Given the description of an element on the screen output the (x, y) to click on. 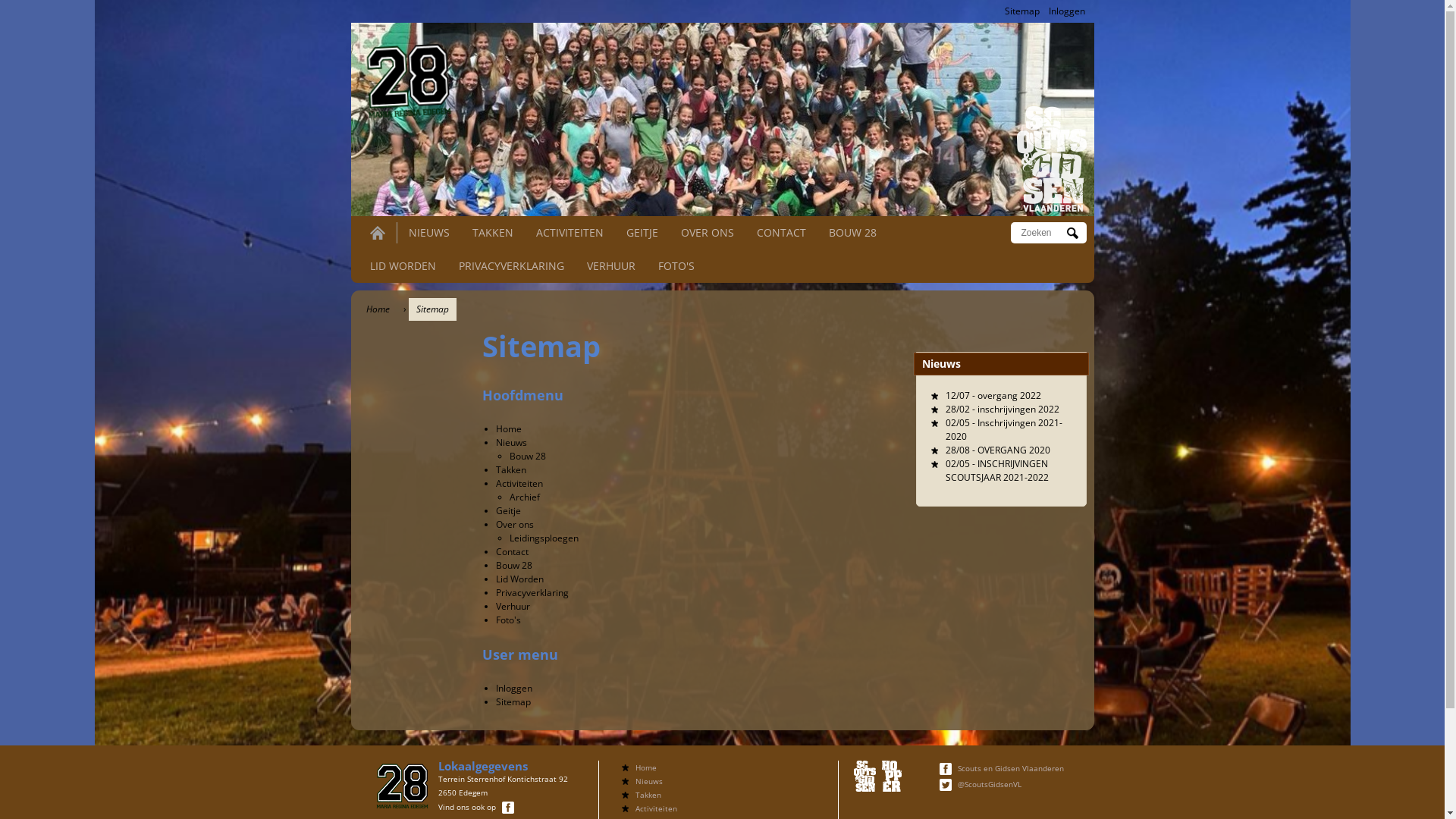
Inloggen Element type: text (513, 687)
Facebook Element type: hover (945, 768)
CONTACT Element type: text (781, 232)
Scouts & Gidsen Vlaanderen op Facebook Element type: hover (947, 767)
Bouw 28 Element type: text (527, 455)
INSCHRIJVINGEN SCOUTSJAAR 2021-2022 Element type: text (996, 470)
Activiteiten Element type: text (656, 808)
Archief Element type: text (524, 496)
Sitemap Element type: text (512, 701)
ACTIVITEITEN Element type: text (568, 232)
Home Element type: text (508, 428)
Bouw 28 Element type: text (513, 564)
Twitter Element type: hover (945, 784)
GEITJE Element type: text (642, 232)
NIEUWS Element type: text (427, 232)
Scouts en Gidsen Vlaanderen Element type: text (1010, 767)
Takken Element type: text (648, 794)
Activiteiten Element type: text (518, 482)
Scouts & Gidsen Vlaanderen Element type: hover (864, 775)
Sitemap Element type: text (1021, 10)
@ScoutsGidsenVL Element type: text (989, 783)
Lid Worden Element type: text (519, 578)
Inschrijvingen 2021-2020 Element type: text (1002, 429)
Nieuws Element type: text (648, 780)
Home Element type: text (645, 767)
Facebook Element type: hover (508, 807)
Jump to navigation Element type: text (722, 2)
Home Element type: text (376, 309)
Home Element type: hover (1050, 158)
Nieuws Element type: text (511, 442)
Inloggen Element type: text (1066, 10)
overgang 2022 Element type: text (1008, 395)
Takken Element type: text (510, 469)
FOTO'S Element type: text (676, 265)
TAKKEN Element type: text (491, 232)
BOUW 28 Element type: text (851, 232)
Geef de woorden op waarnaar u wilt zoeken. Element type: hover (1041, 232)
Leidingsploegen Element type: text (543, 537)
VERHUUR Element type: text (610, 265)
Foto's Element type: text (507, 619)
LID WORDEN Element type: text (403, 265)
Home Element type: hover (404, 76)
PRIVACYVERKLARING Element type: text (510, 265)
Hopper Element type: hover (891, 775)
Contact Element type: text (511, 551)
inschrijvingen 2022 Element type: text (1017, 408)
OVER ONS Element type: text (707, 232)
OVERGANG 2020 Element type: text (1012, 449)
Geitje Element type: text (507, 510)
Scouts & Gidsen Vlaanderen op Twitter Element type: hover (947, 783)
Verhuur Element type: text (512, 605)
HOME Element type: text (377, 232)
Over ons Element type: text (514, 523)
Privacyverklaring Element type: text (531, 592)
